Given the description of an element on the screen output the (x, y) to click on. 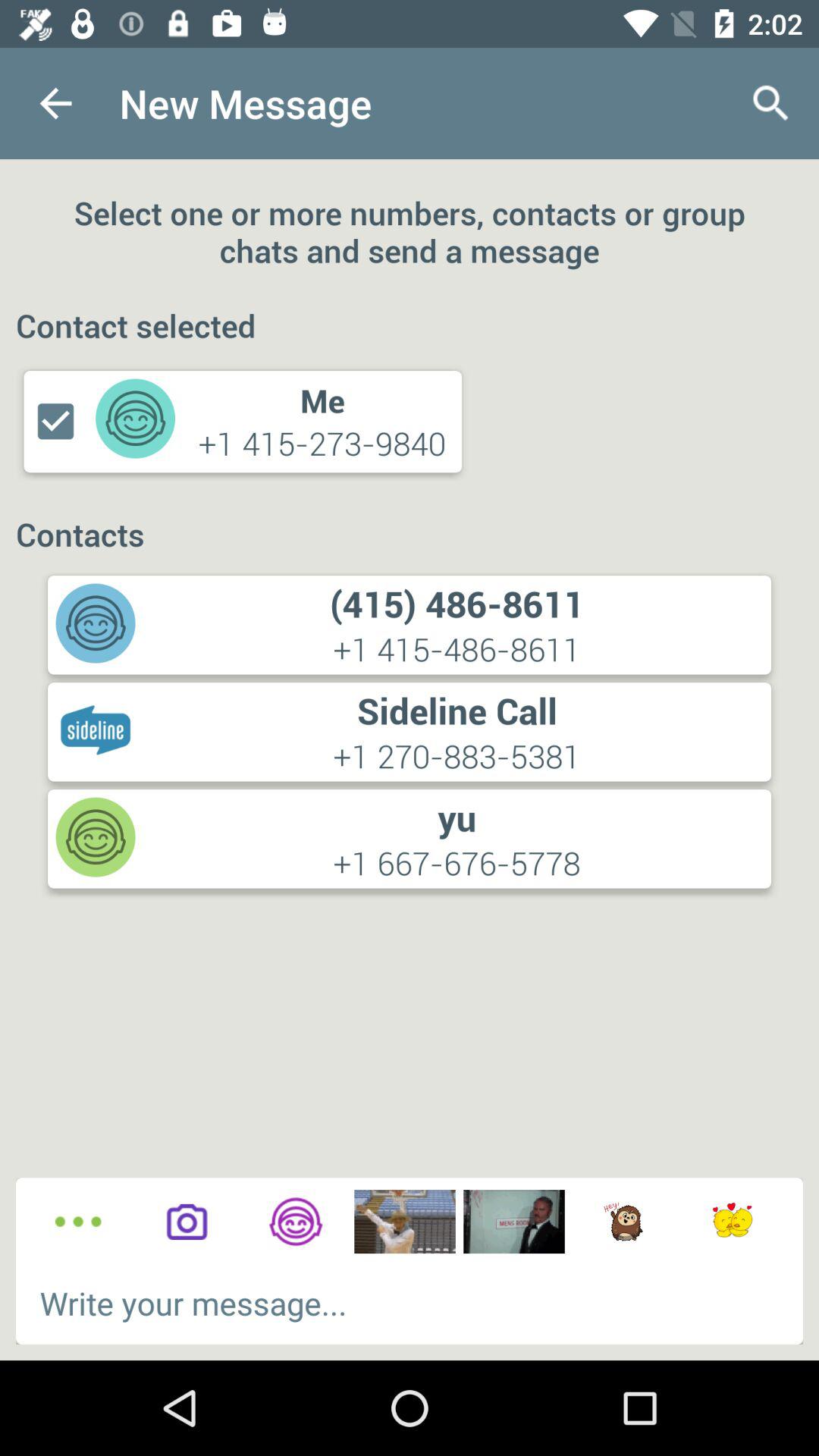
type a message (409, 1302)
